Given the description of an element on the screen output the (x, y) to click on. 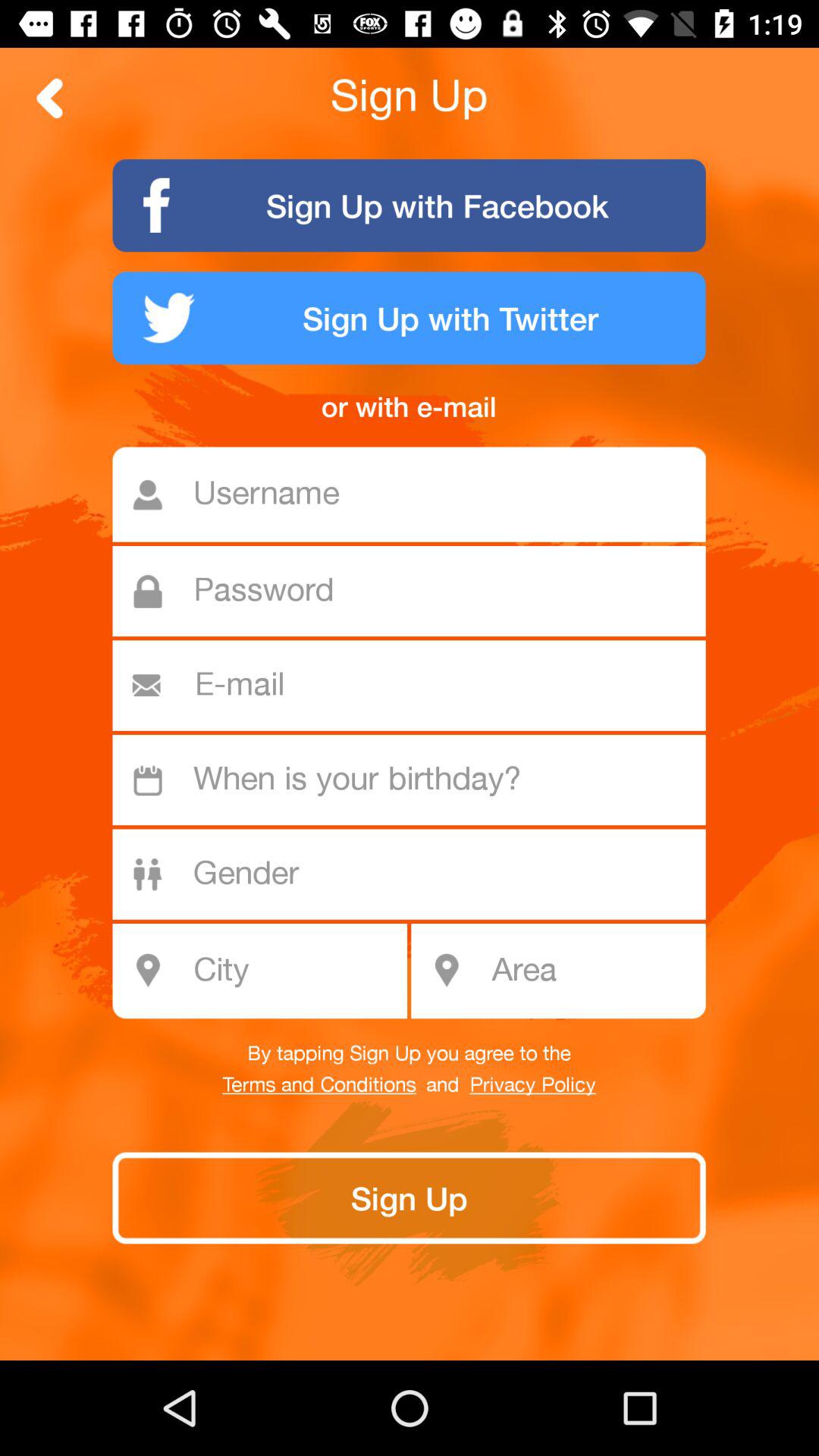
add area you live (593, 970)
